Given the description of an element on the screen output the (x, y) to click on. 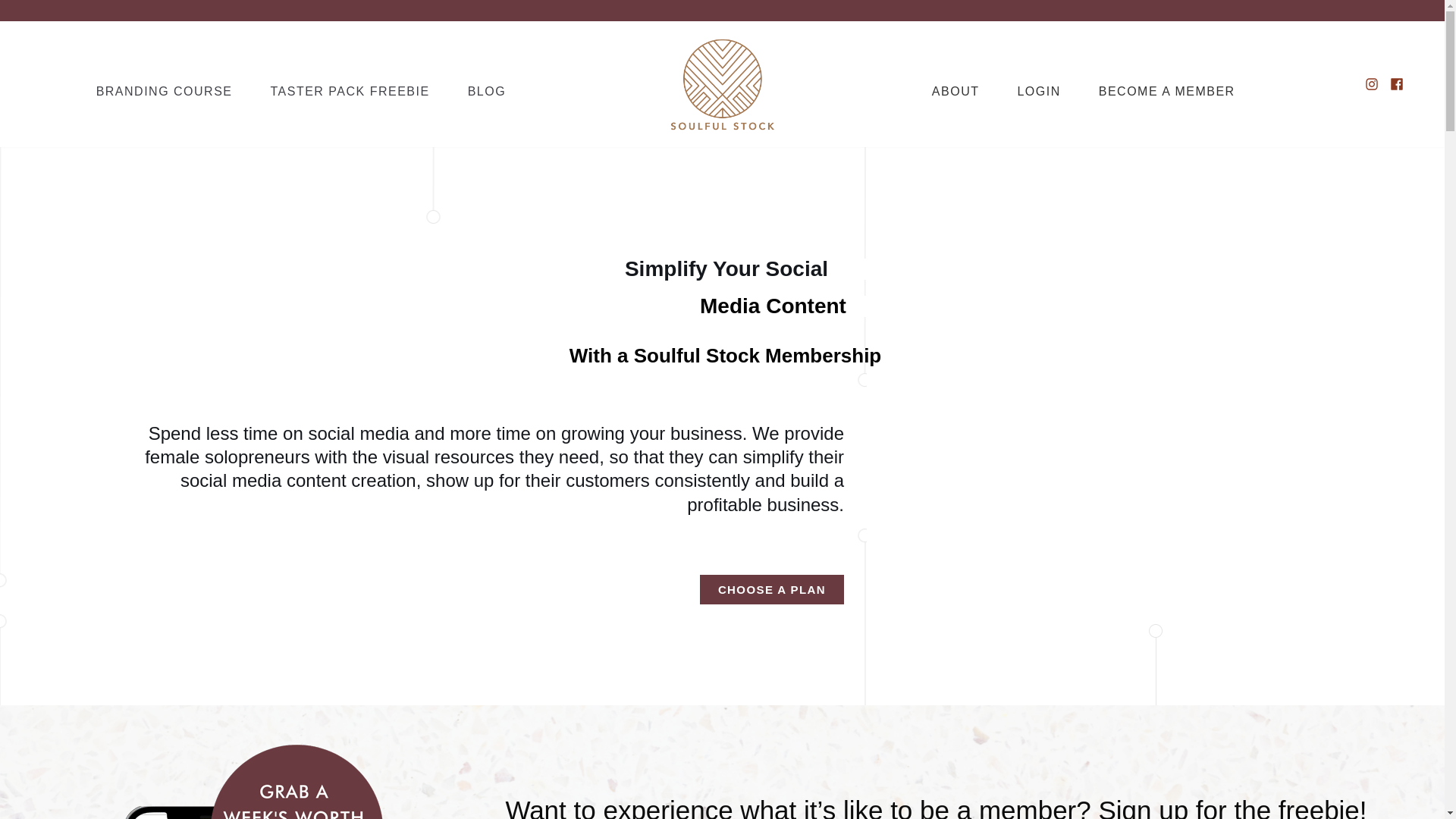
Instagram (1371, 83)
Facebook (1396, 83)
Soulful Stock (721, 83)
BRANDING COURSE (164, 91)
Skip to content (15, 7)
BLOG (486, 91)
BECOME A MEMBER (1166, 91)
ABOUT (955, 91)
LOGIN (1037, 91)
TASTER PACK FREEBIE (349, 91)
CHOOSE A PLAN (772, 589)
